Given the description of an element on the screen output the (x, y) to click on. 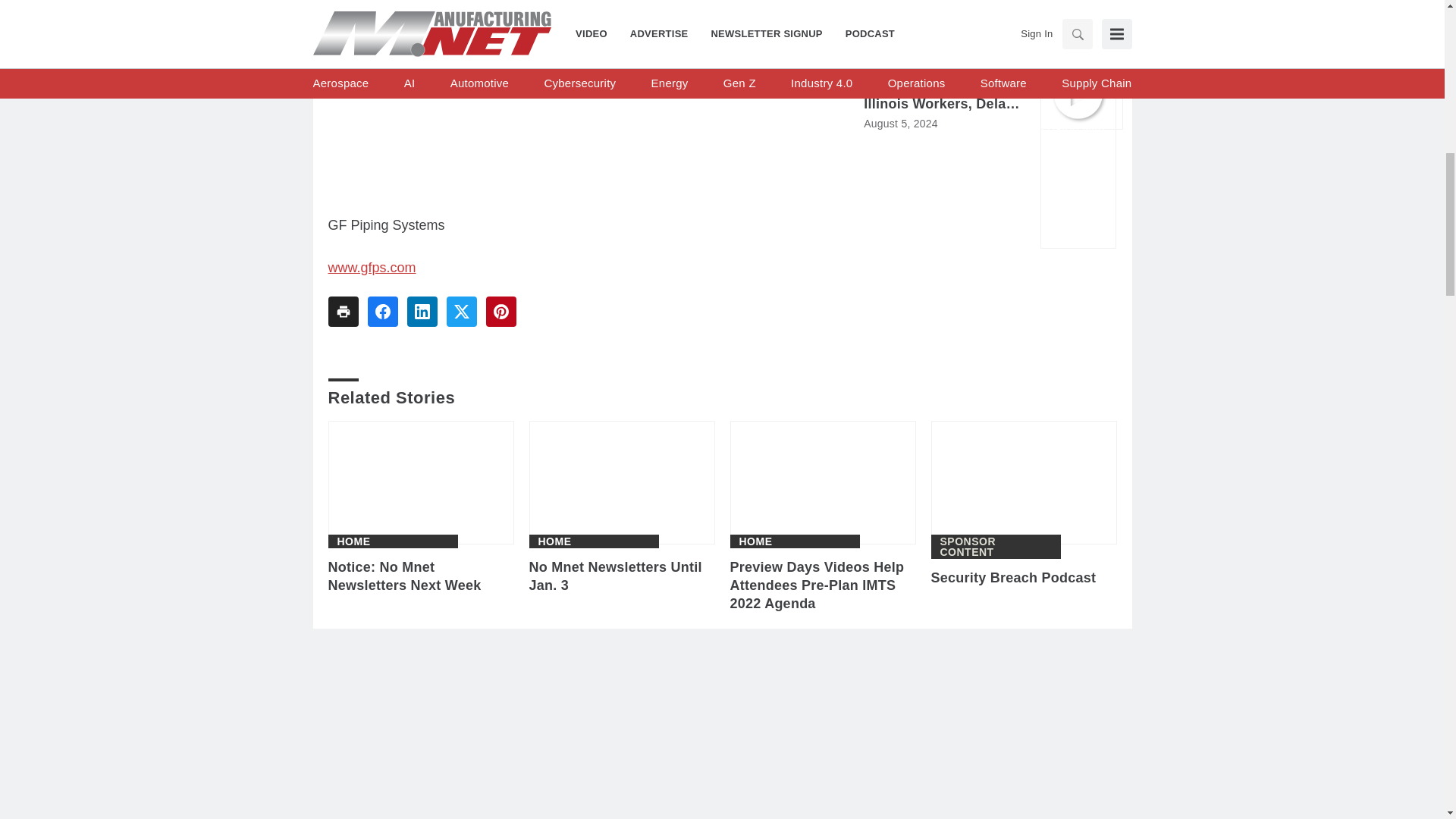
Share To print (342, 311)
Home (555, 541)
Share To twitter (460, 311)
Share To facebook (381, 311)
Home (352, 541)
Share To pinterest (499, 311)
Home (754, 541)
Share To linkedin (421, 311)
